Given the description of an element on the screen output the (x, y) to click on. 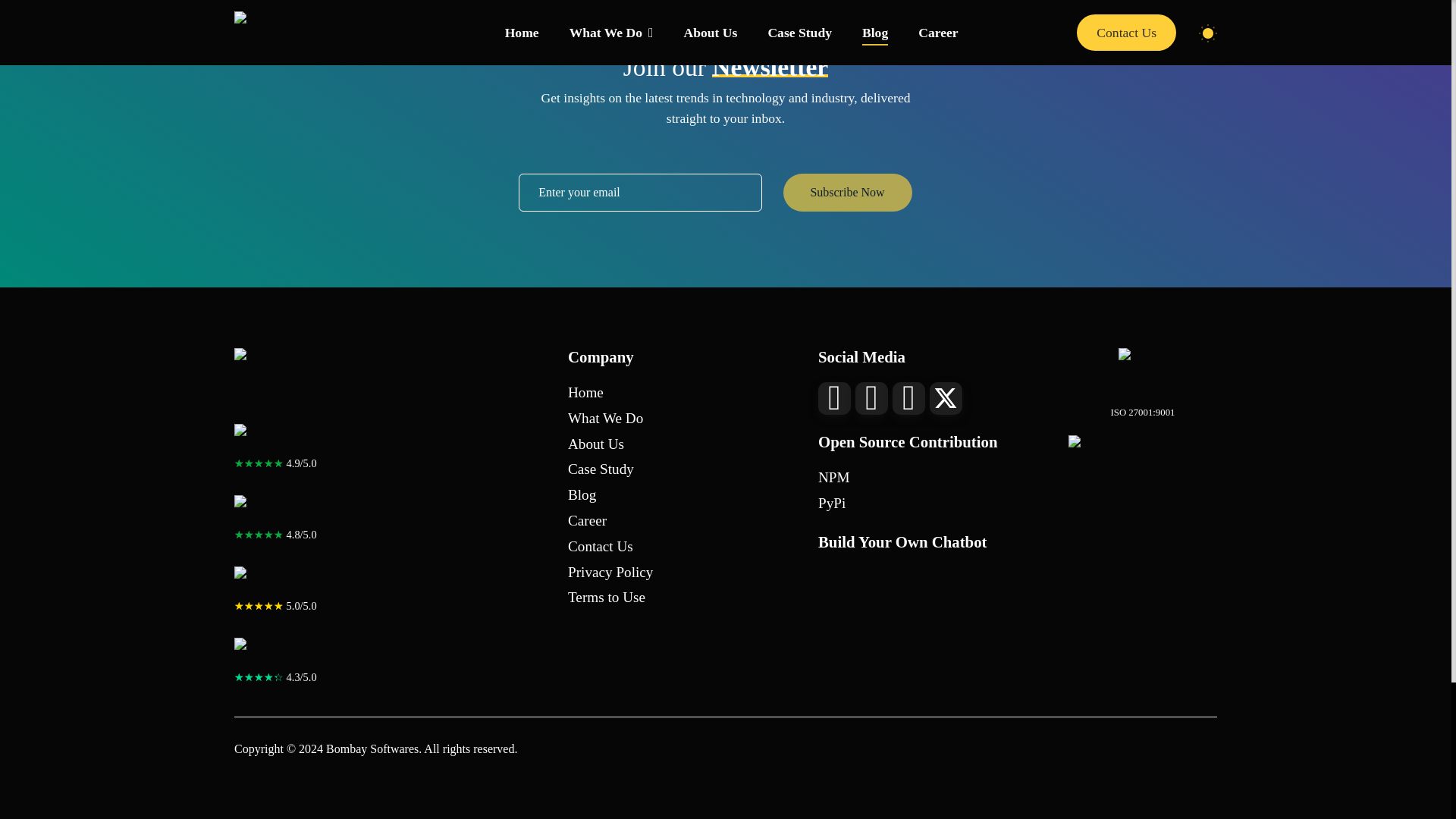
DMCA.com Protection Status (1142, 451)
Trustpilot (279, 652)
Ambition Box (279, 509)
DMCA Certificate (1142, 372)
Google (279, 580)
Glassdoor (279, 438)
